Given the description of an element on the screen output the (x, y) to click on. 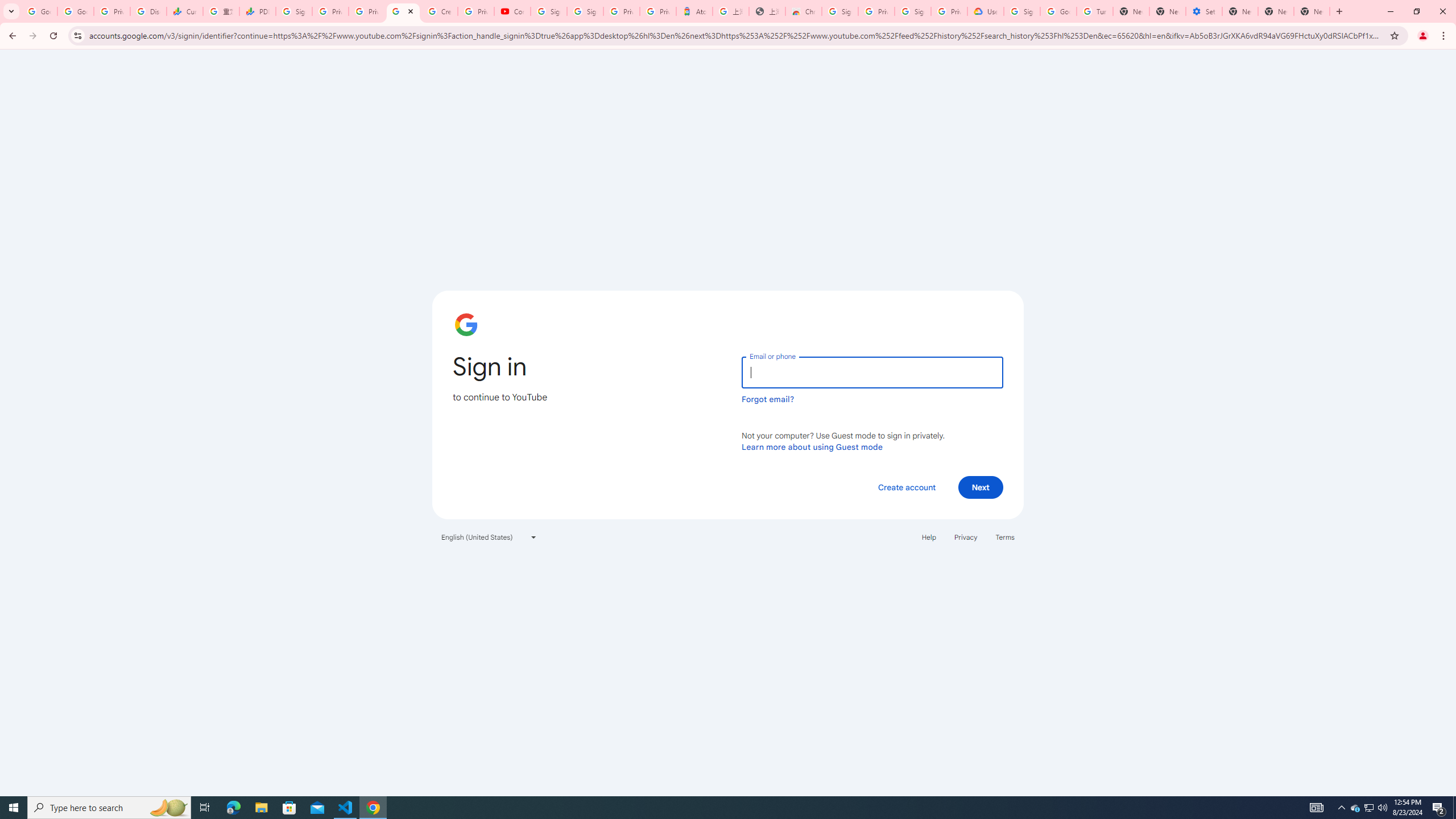
New Tab (1131, 11)
Settings - System (1203, 11)
Google Workspace Admin Community (39, 11)
English (United States) (489, 536)
YouTube (403, 11)
